Given the description of an element on the screen output the (x, y) to click on. 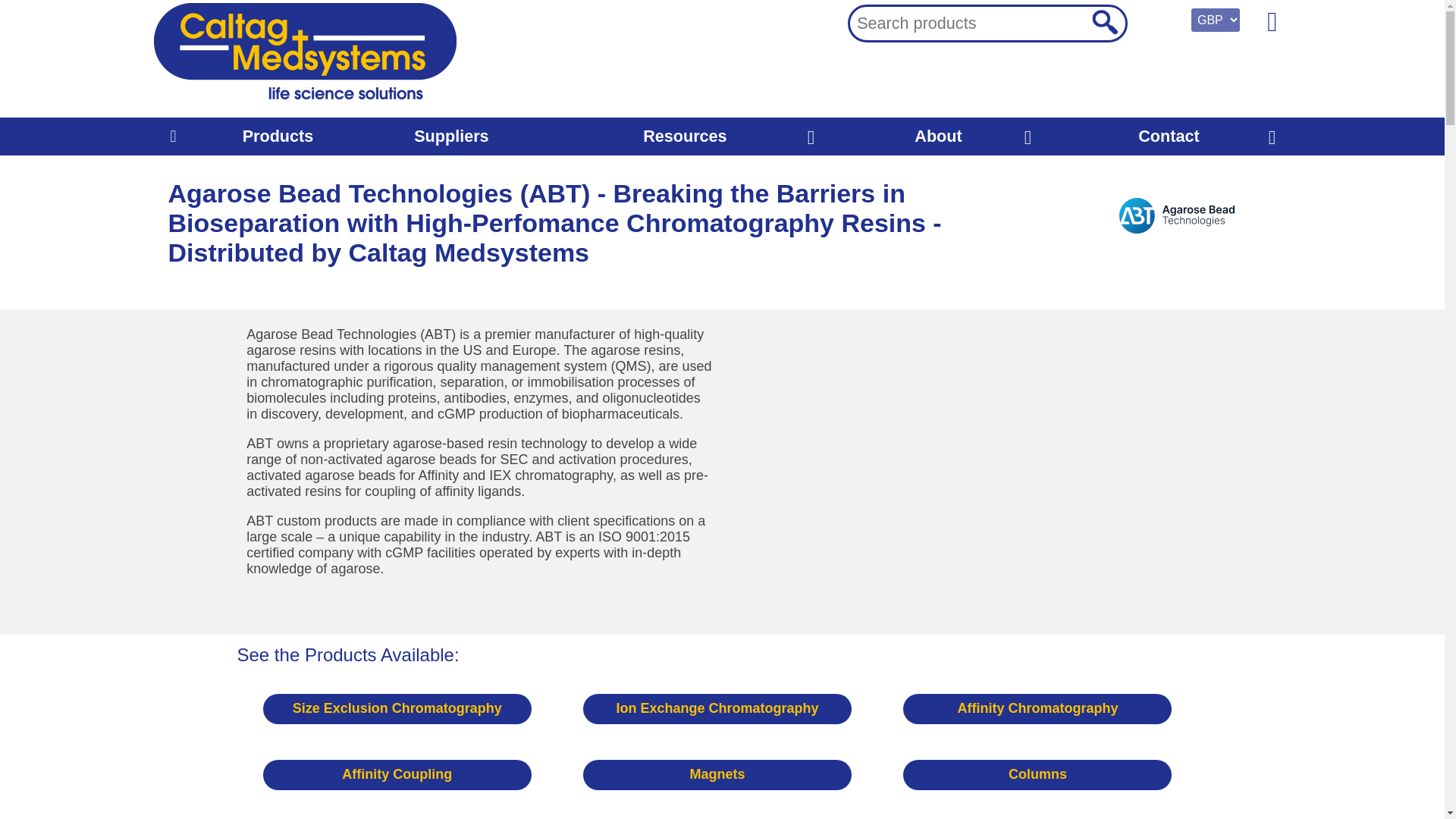
Search products (1103, 21)
About (937, 136)
Ion Exchange Chromatography (717, 708)
Magnets (717, 775)
Set Currency (1215, 19)
Home (172, 136)
Affinity Chromatography (1037, 708)
Agarose Bead Technologies (1177, 215)
Contact (1168, 136)
Resources (684, 136)
